Given the description of an element on the screen output the (x, y) to click on. 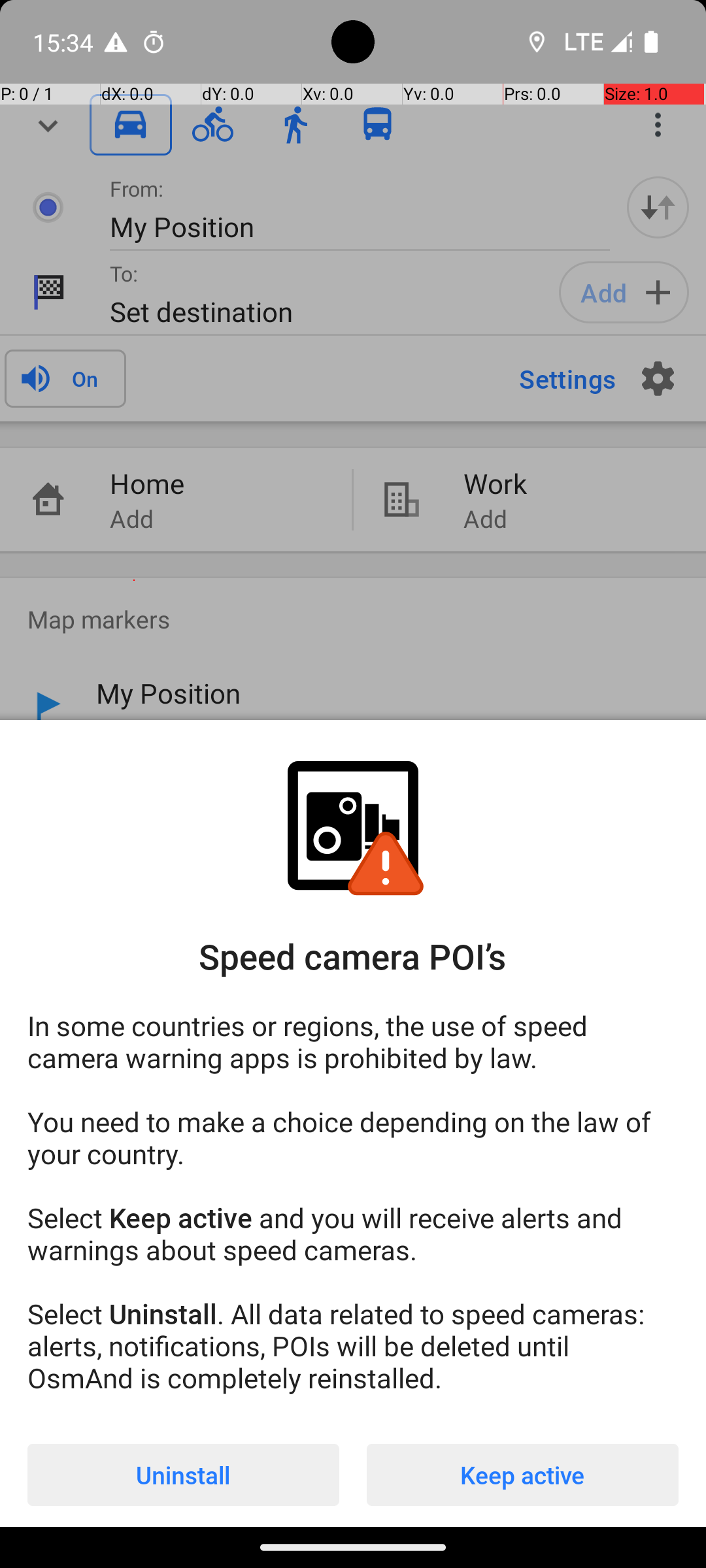
Close the dialog Element type: android.view.View (353, 388)
